Given the description of an element on the screen output the (x, y) to click on. 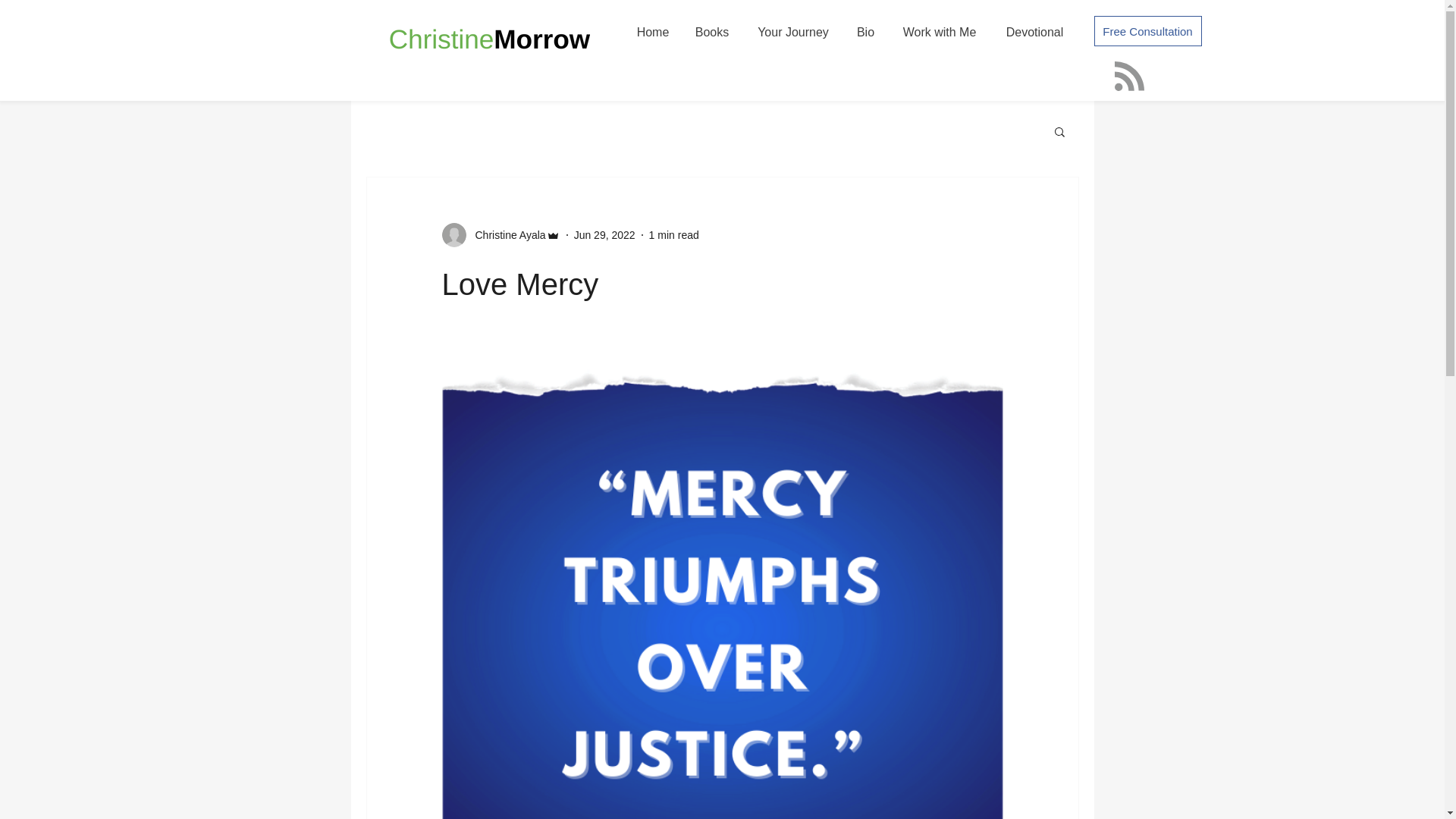
1 min read (673, 234)
Your Journey (792, 31)
Bio (865, 31)
Jun 29, 2022 (603, 234)
Work with Me (939, 31)
Home (652, 31)
Free Consultation (1147, 30)
Christine Ayala (504, 235)
Devotional (1034, 31)
Books (712, 31)
